Given the description of an element on the screen output the (x, y) to click on. 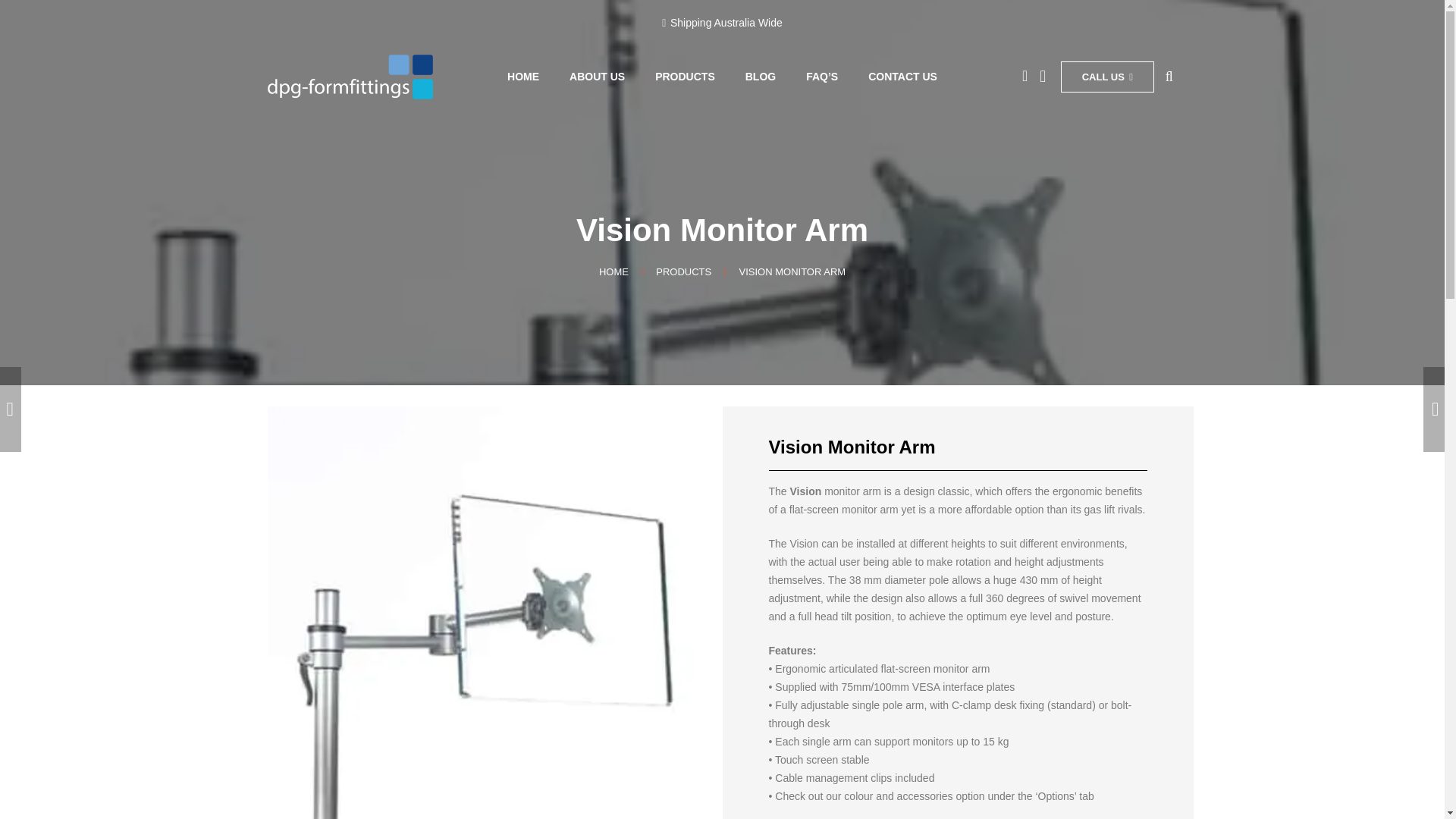
CONTACT US (902, 76)
VISION MONITOR ARM (792, 271)
ABOUT US (597, 76)
CALL US (1107, 77)
Shipping Australia Wide (722, 22)
PRODUCTS (683, 271)
HOME (613, 271)
HOME (523, 76)
PRODUCTS (685, 76)
BLOG (760, 76)
